Given the description of an element on the screen output the (x, y) to click on. 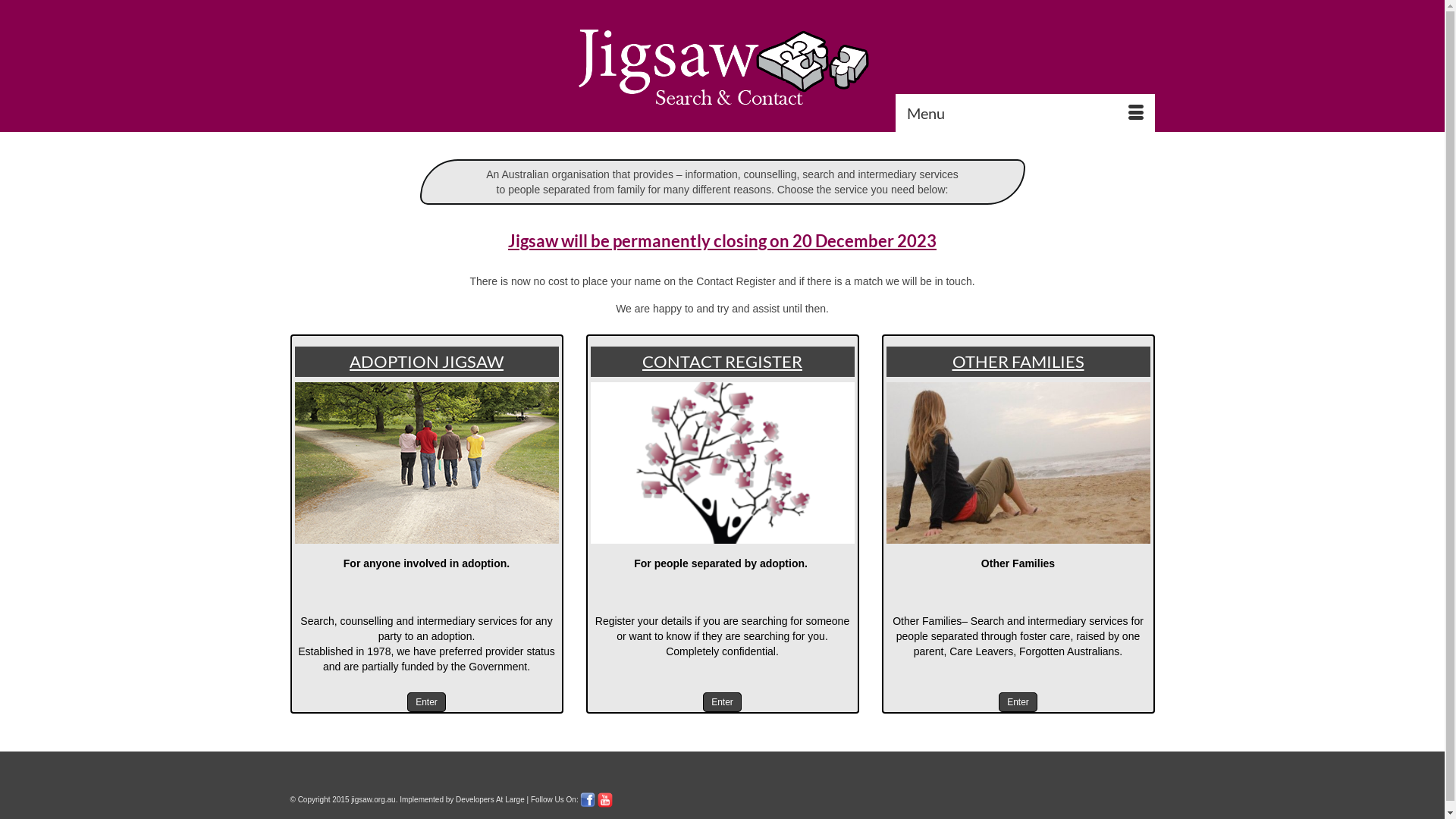
Enter Element type: text (1017, 702)
Youtube Element type: hover (604, 799)
CONTACT REGISTER Element type: text (722, 361)
Enter Element type: text (426, 702)
Find Us on facebook Element type: hover (587, 799)
Enter Element type: text (721, 702)
OTHER FAMILIES Element type: text (1018, 361)
Jigsaw Element type: hover (722, 65)
jigsaw.org.au Element type: text (373, 799)
Menu Element type: text (1024, 112)
Developers At Large Element type: text (489, 799)
ADOPTION JIGSAW Element type: text (426, 361)
